Given the description of an element on the screen output the (x, y) to click on. 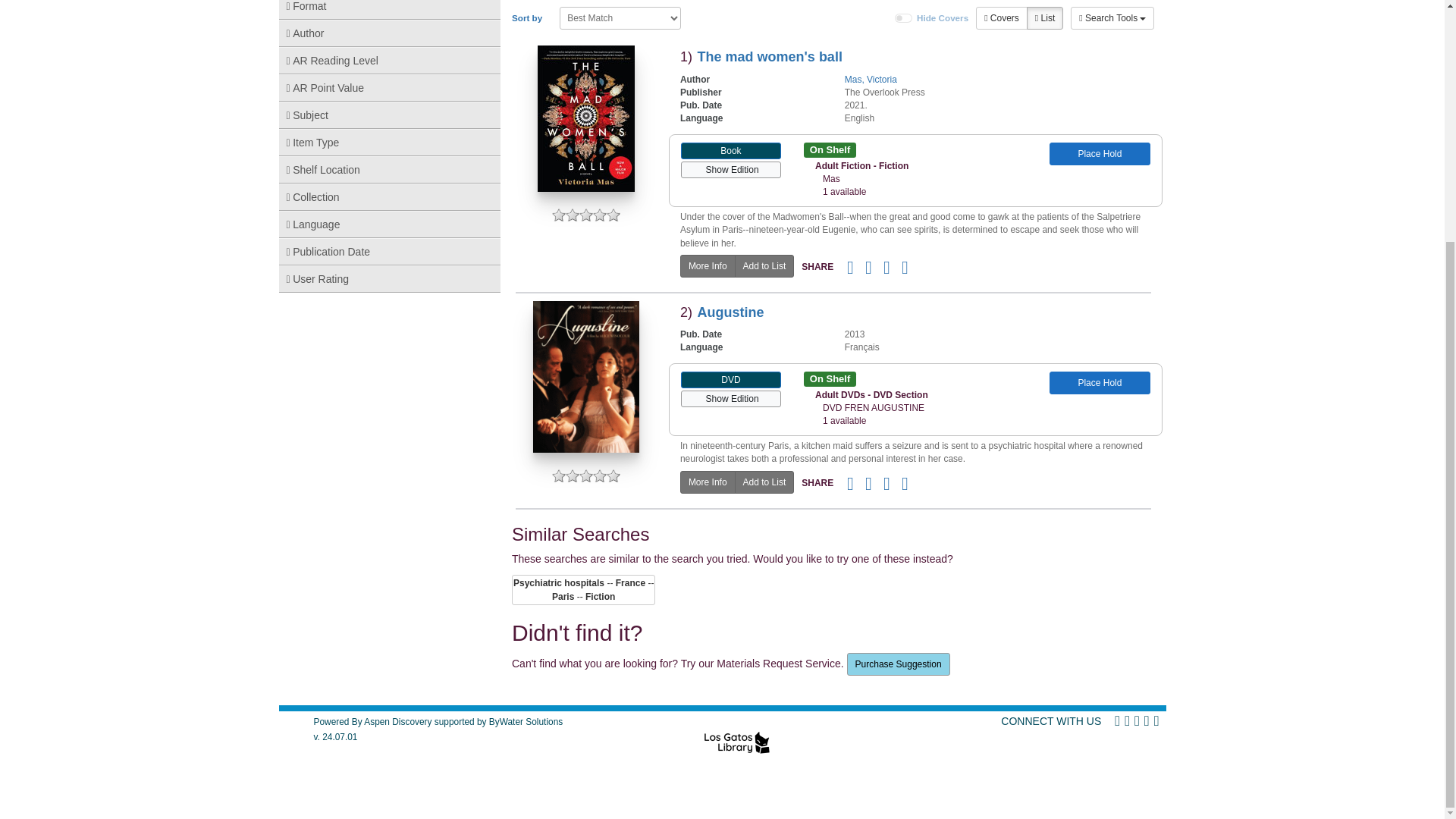
on (903, 17)
